Given the description of an element on the screen output the (x, y) to click on. 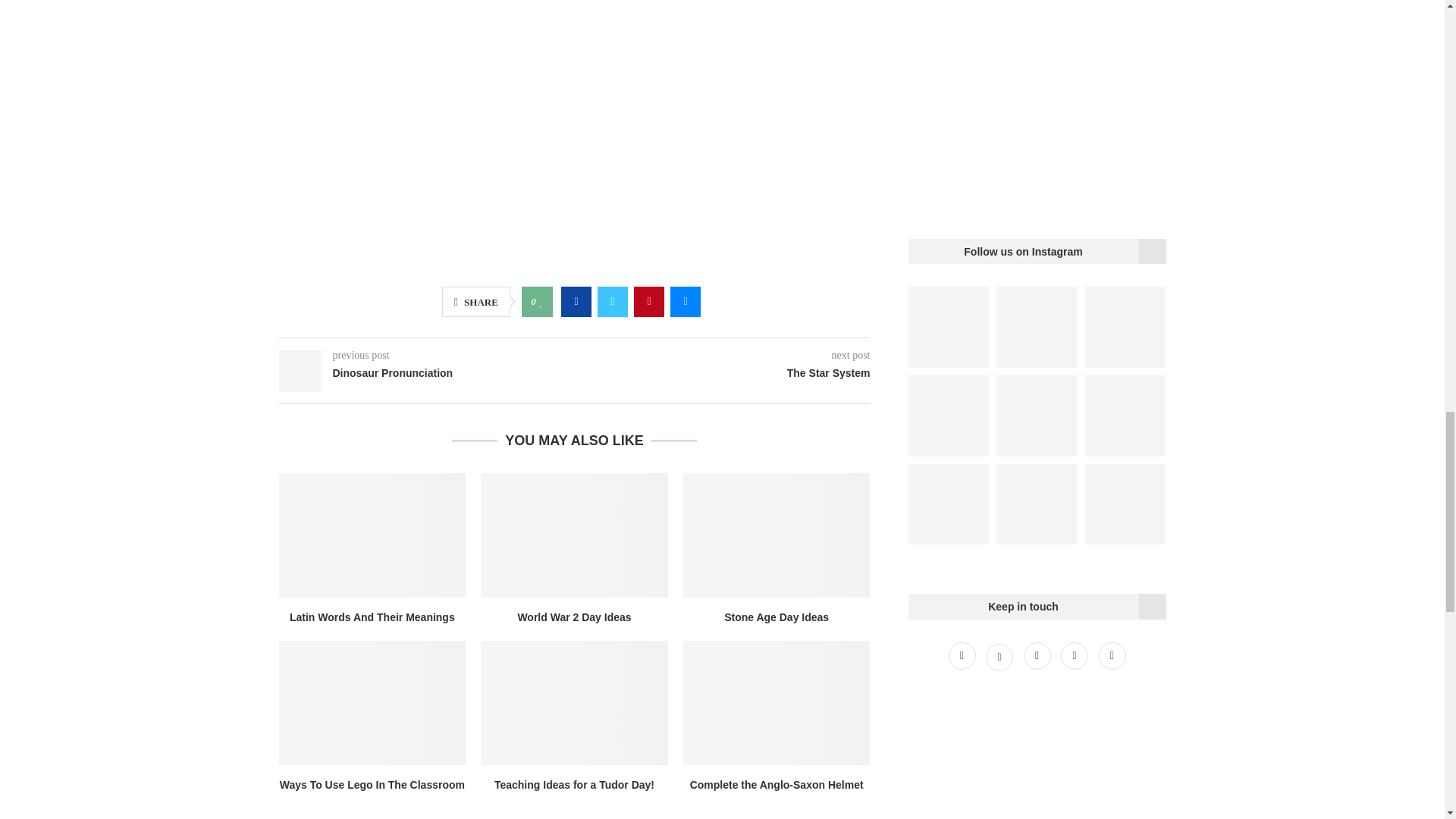
Teaching Ideas for a Tudor Day! (574, 702)
Ways To Use Lego In The Classroom (372, 702)
Complete the Anglo-Saxon Helmet (776, 702)
World War 2 Day Ideas (574, 535)
Latin Words And Their Meanings (372, 535)
Stone Age Day Ideas (776, 535)
